Given the description of an element on the screen output the (x, y) to click on. 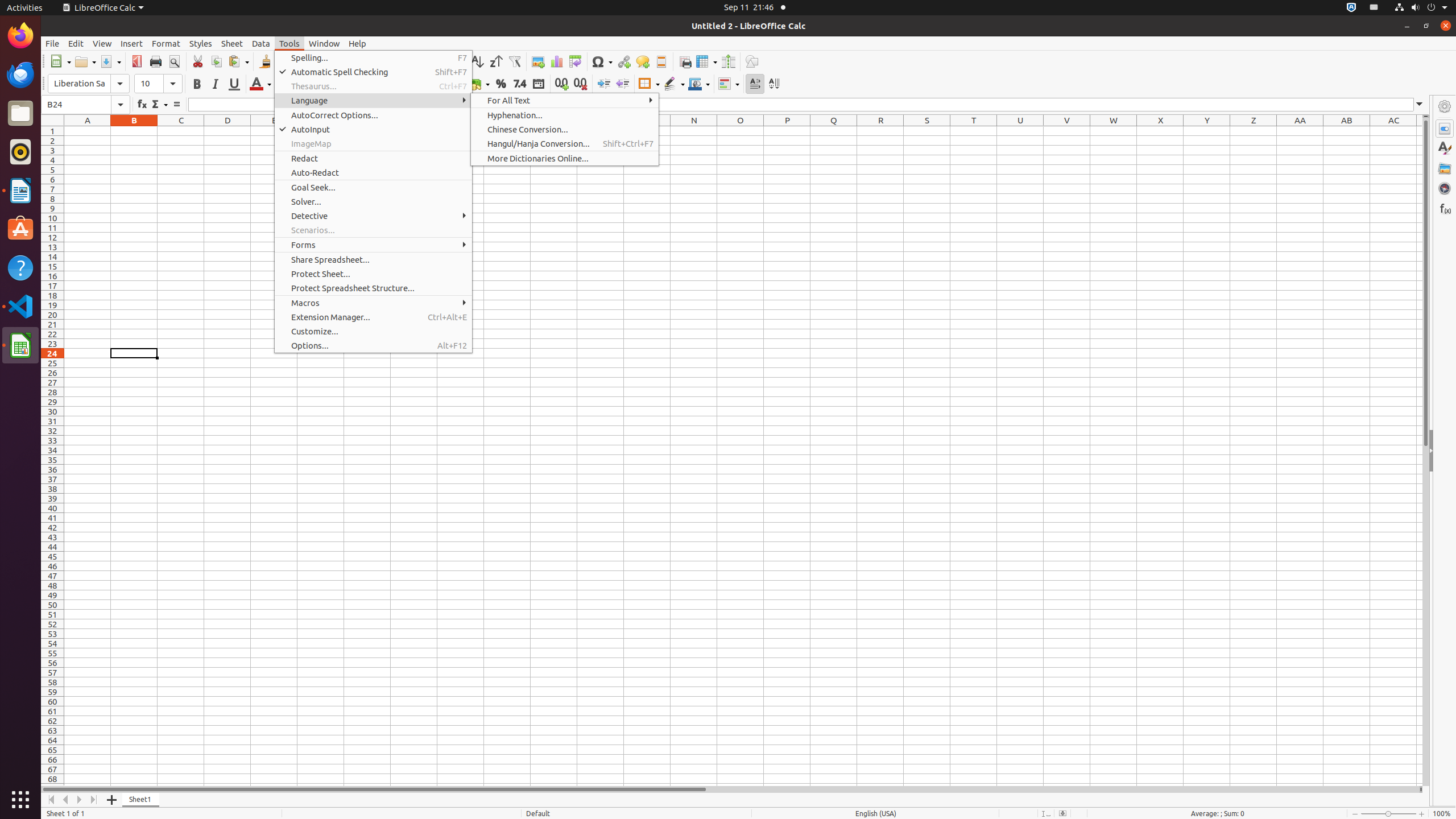
Split Window Element type: push-button (727, 61)
Solver... Element type: menu-item (373, 201)
Horizontal scroll bar Element type: scroll-bar (729, 789)
Activities Element type: label (24, 7)
Font Size Element type: text (148, 83)
